Given the description of an element on the screen output the (x, y) to click on. 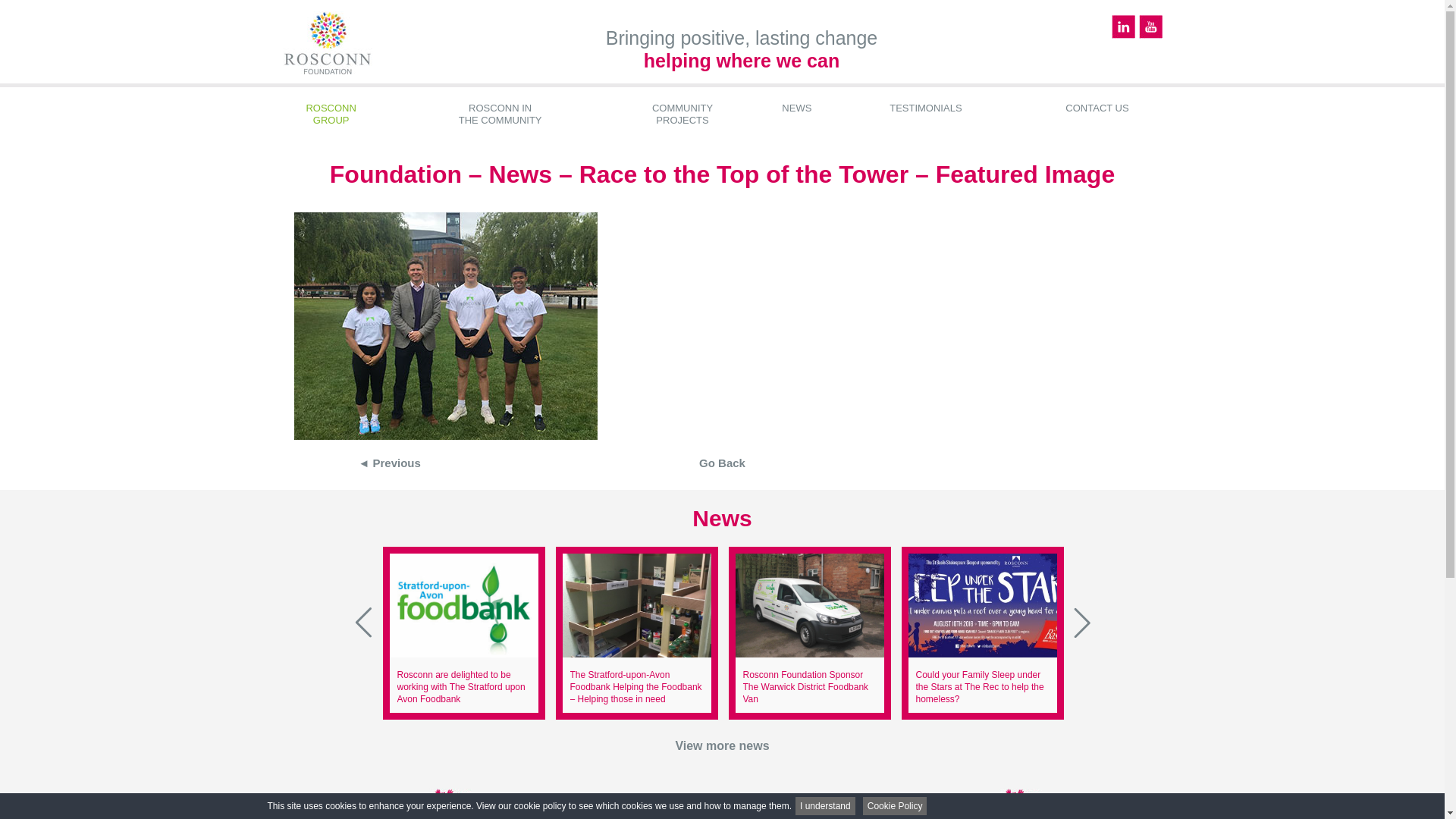
Cookie Policy (330, 114)
Go Back (895, 805)
Rosconn Foundation Sponsor The Warwick District Foodbank Van (682, 114)
I understand (721, 462)
CONTACT US (805, 686)
TESTIMONIALS (825, 805)
NEWS (1097, 108)
